Given the description of an element on the screen output the (x, y) to click on. 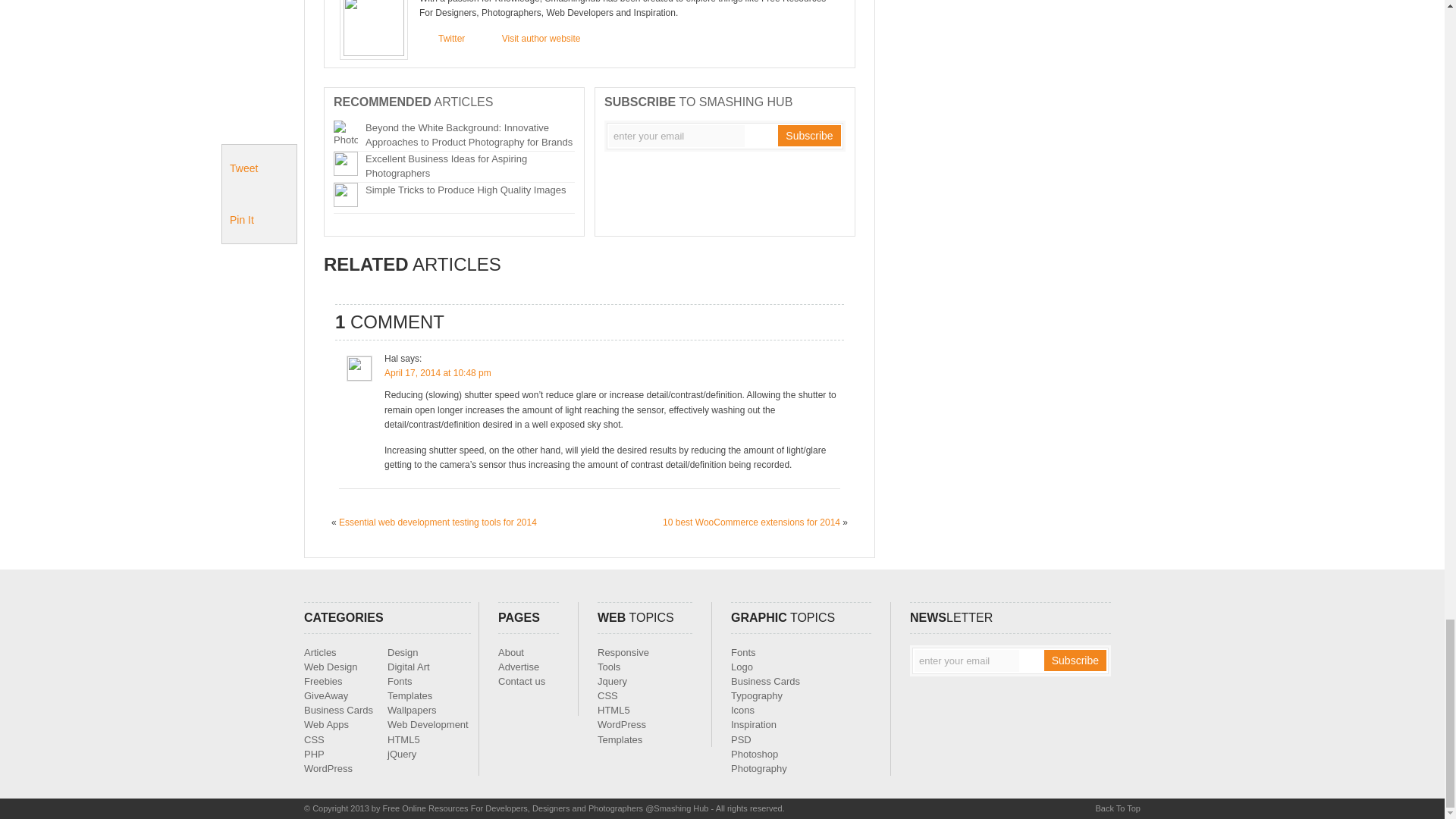
Subscribe (808, 135)
Enter your email (676, 136)
Excellent Business Ideas for Aspiring Photographers (446, 166)
Enter your email (966, 660)
Simple Tricks to Produce High Quality Images (465, 189)
Subscribe (1074, 660)
